Given the description of an element on the screen output the (x, y) to click on. 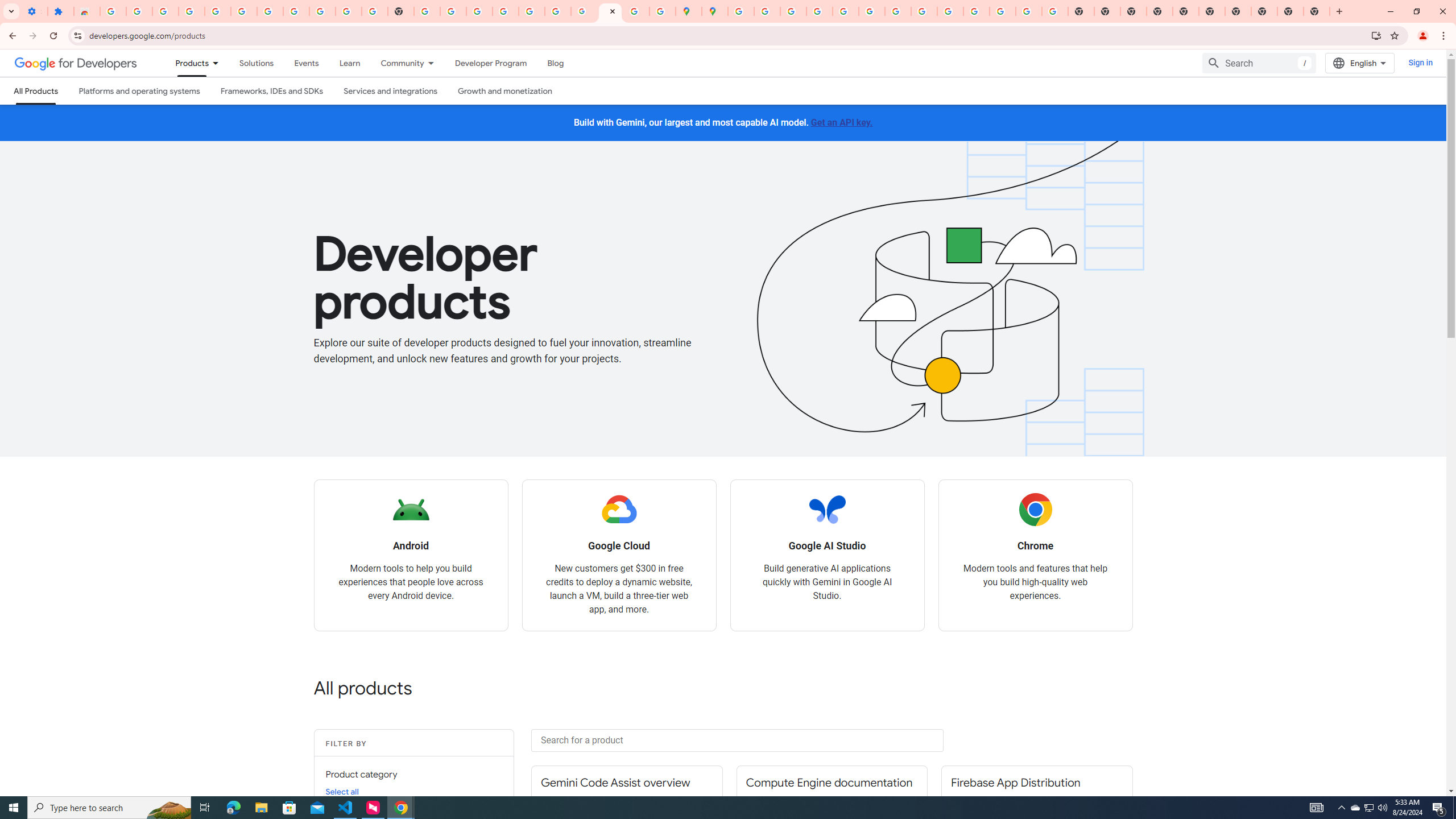
All Products, selected (35, 90)
Search for a product (737, 739)
Solutions (255, 62)
Community (396, 62)
Developer Program (490, 62)
Learn how to find your photos - Google Photos Help (217, 11)
Extensions (60, 11)
